Given the description of an element on the screen output the (x, y) to click on. 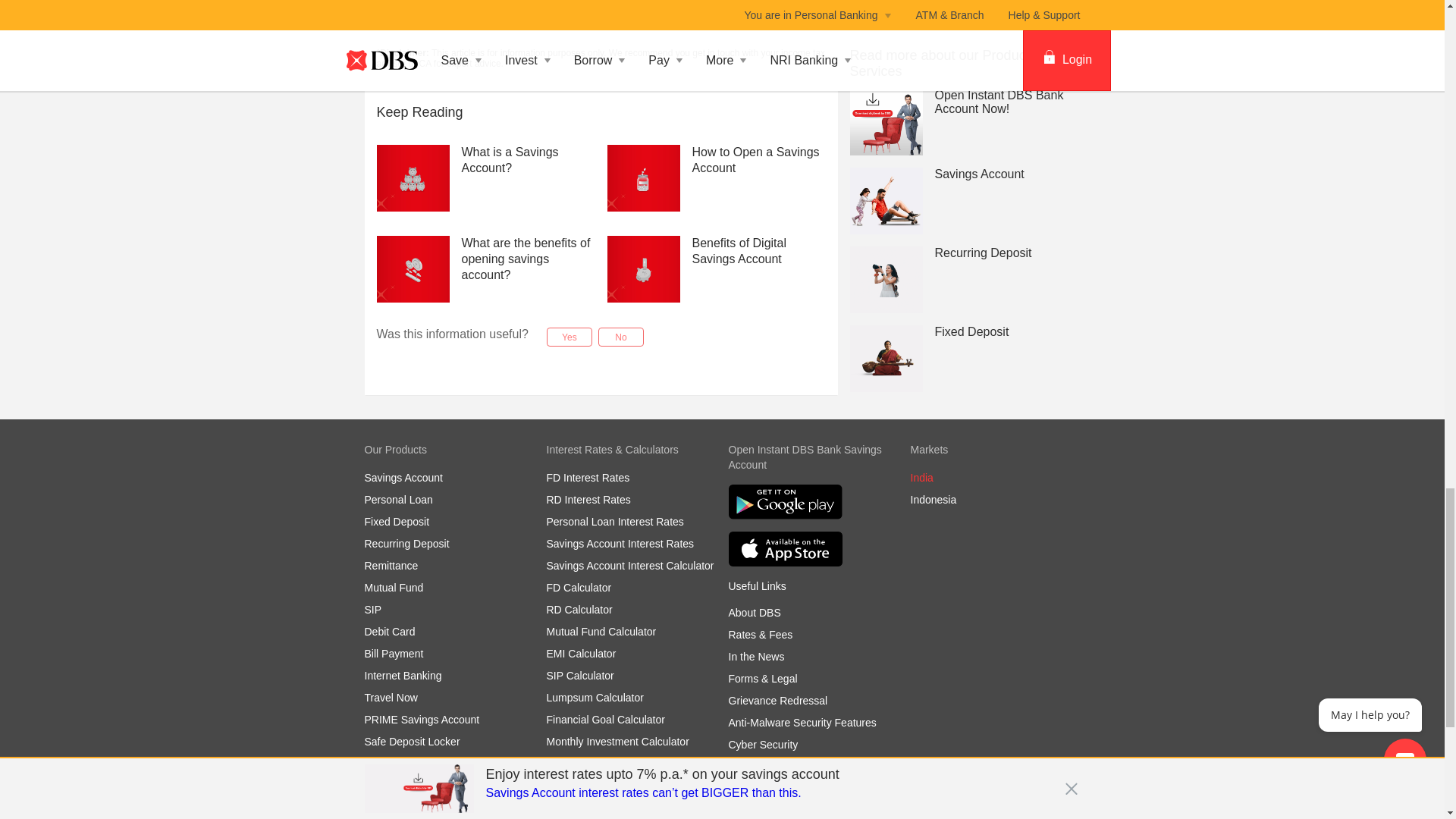
Open a DBS Bank Account Now (481, 11)
Savings Schedule of Benefits (797, 766)
Schedule of Charges (777, 788)
1860 267 4567 (442, 815)
1860 210 3456 (452, 815)
Grievance Redressal (777, 700)
Anti-Malware Security Features (802, 722)
